Given the description of an element on the screen output the (x, y) to click on. 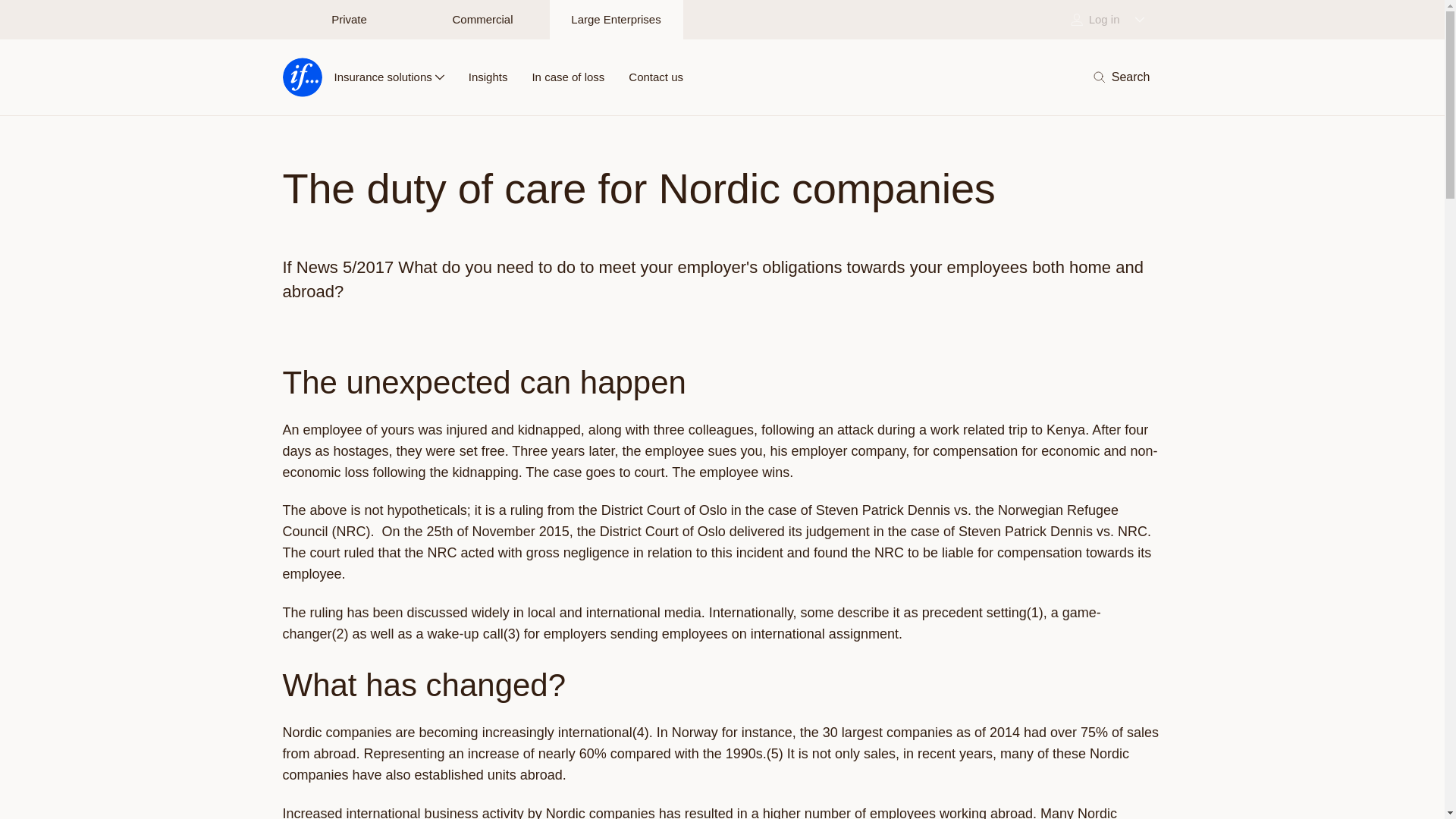
Private (348, 19)
Log in (1103, 19)
Large Enterprises (615, 19)
Commercial (481, 19)
